Given the description of an element on the screen output the (x, y) to click on. 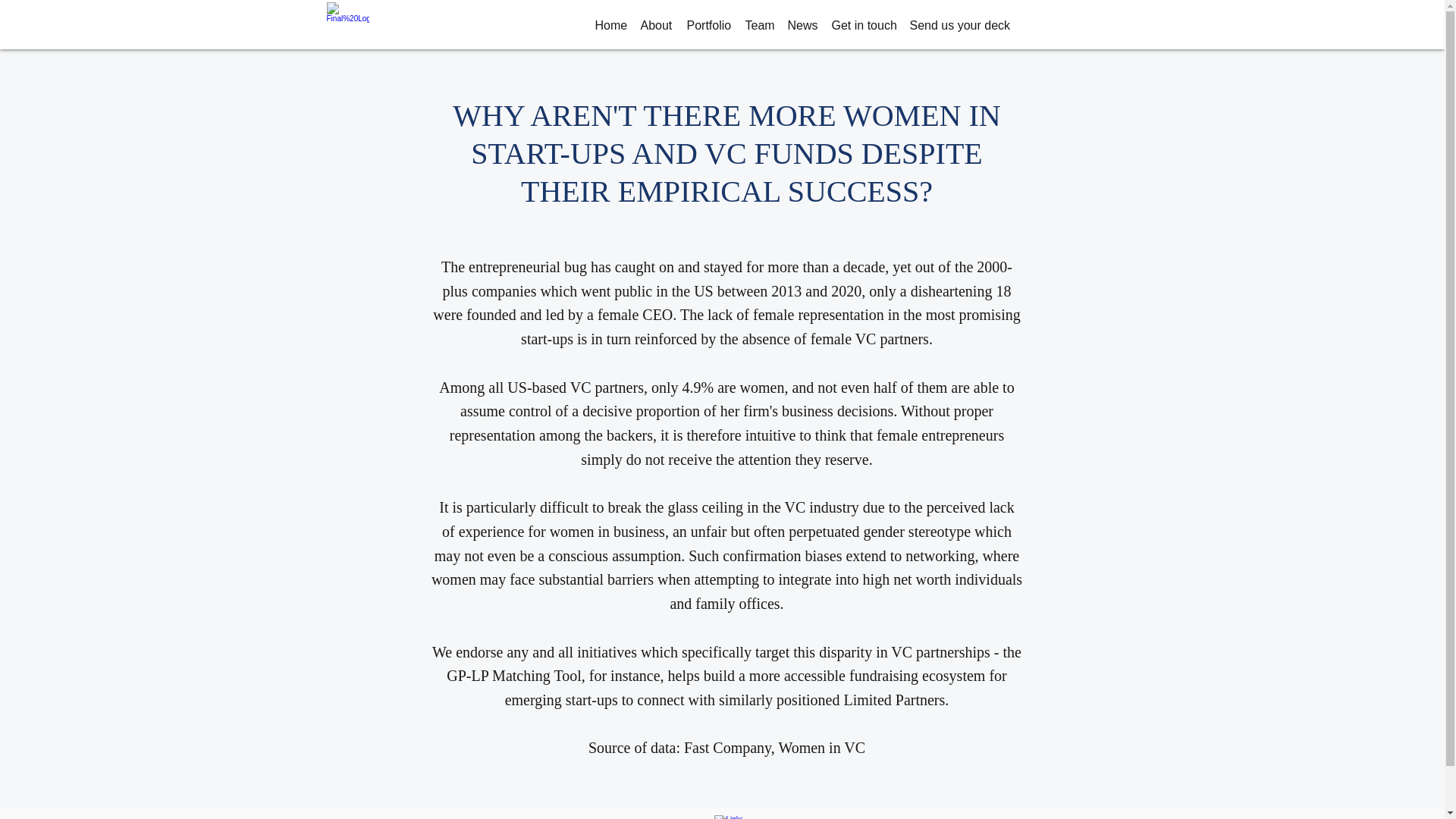
Send us your deck (958, 25)
Get in touch (862, 25)
Team (757, 25)
Portfolio (708, 25)
Home (608, 25)
News (801, 25)
About (654, 25)
